Given the description of an element on the screen output the (x, y) to click on. 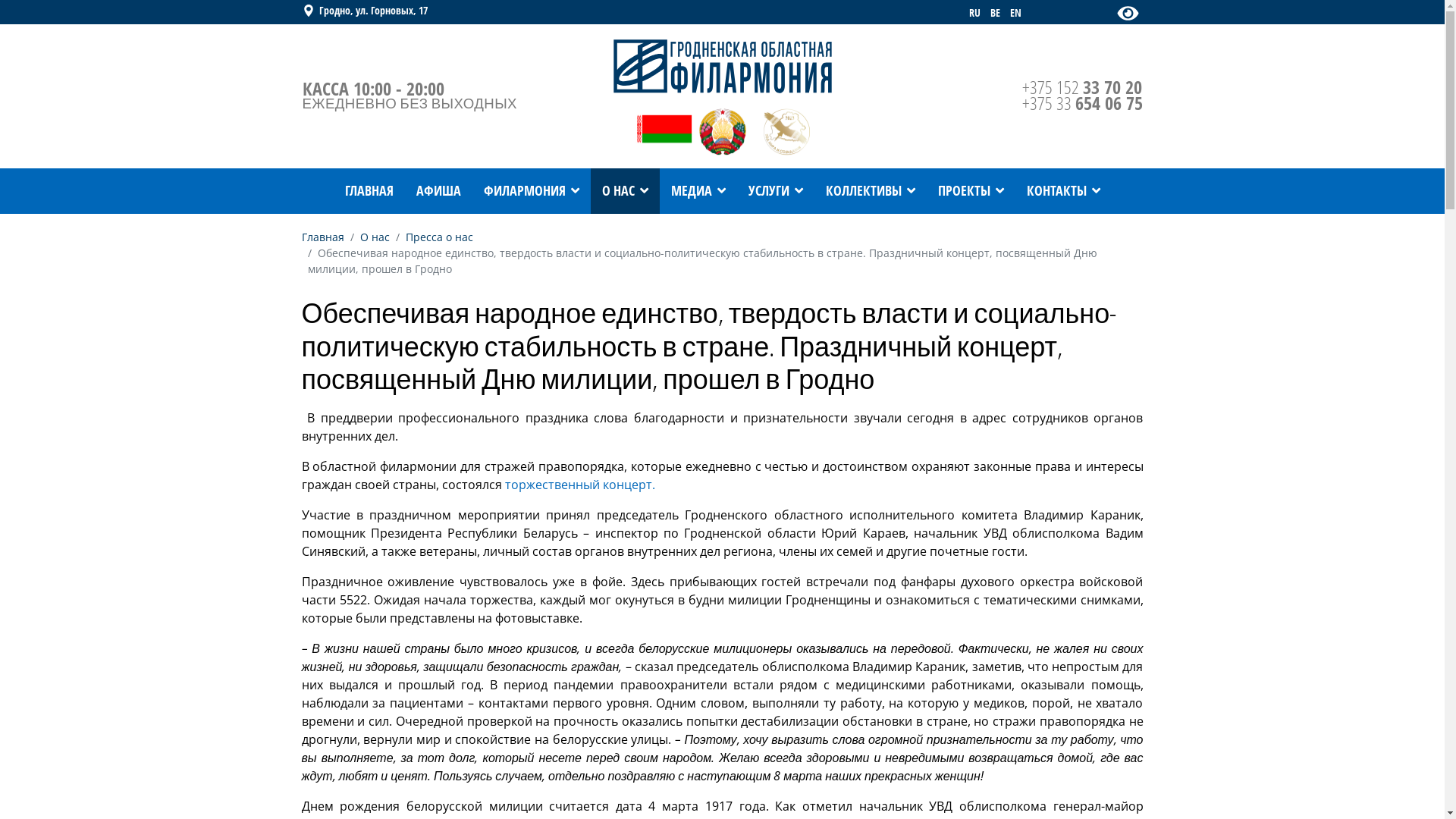
+375 33 654 06 75 Element type: text (1082, 102)
BE Element type: text (994, 11)
RU Element type: text (973, 11)
+375 152 33 70 20 Element type: text (1082, 86)
EN Element type: text (1014, 11)
